Given the description of an element on the screen output the (x, y) to click on. 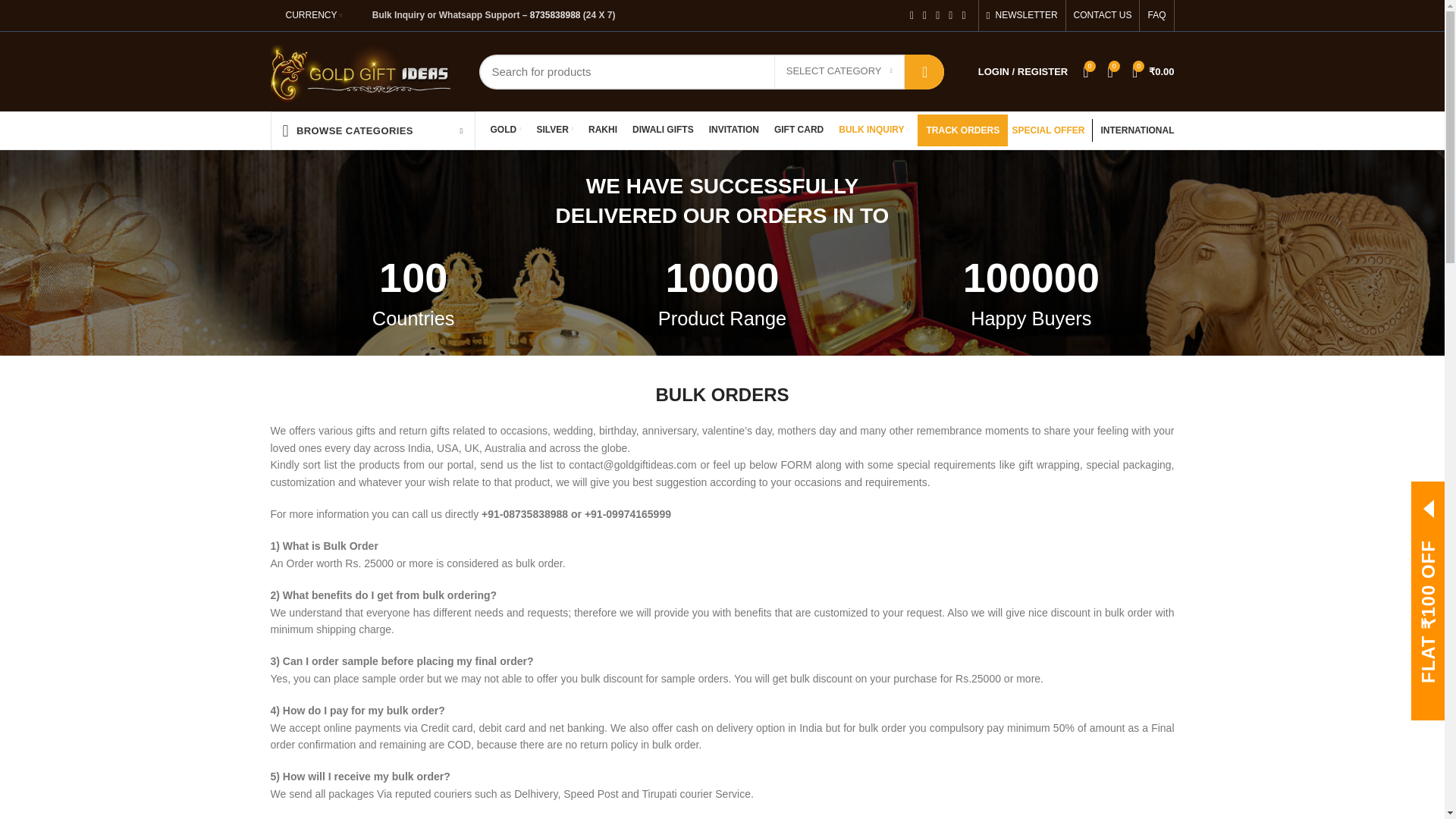
CONTACT US (1102, 15)
Search for products (711, 71)
NEWSLETTER (1021, 15)
My Wishlist (1085, 71)
SELECT CATEGORY (839, 71)
Compare products (1110, 71)
SELECT CATEGORY (839, 71)
8735838988 (554, 14)
CURRENCY (313, 15)
Shopping cart (1153, 71)
My account (1023, 71)
FAQ (1156, 15)
